Given the description of an element on the screen output the (x, y) to click on. 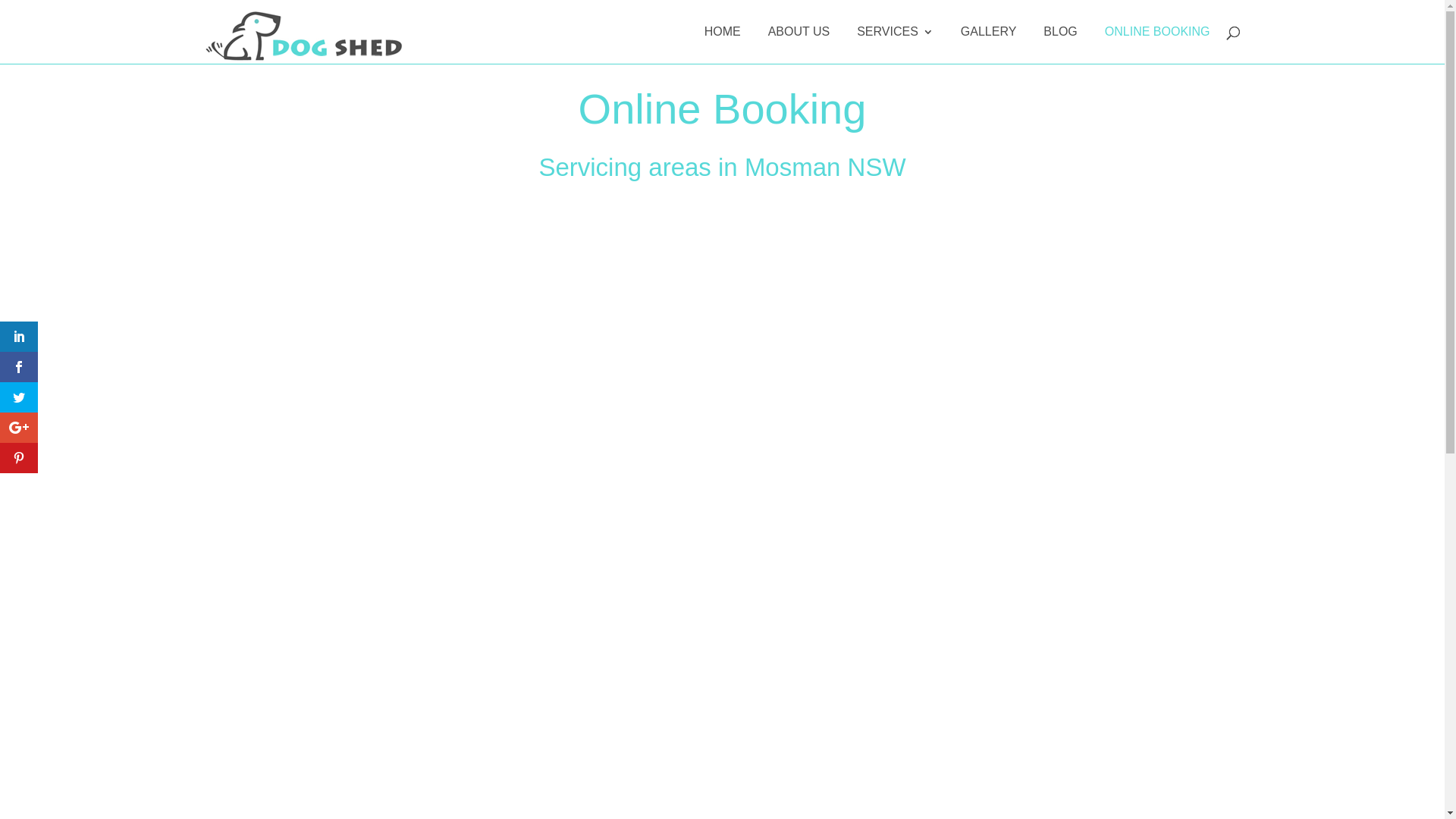
GALLERY Element type: text (988, 44)
ONLINE BOOKING Element type: text (1157, 44)
BLOG Element type: text (1059, 44)
SERVICES Element type: text (894, 44)
ABOUT US Element type: text (799, 44)
HOME Element type: text (722, 44)
